Given the description of an element on the screen output the (x, y) to click on. 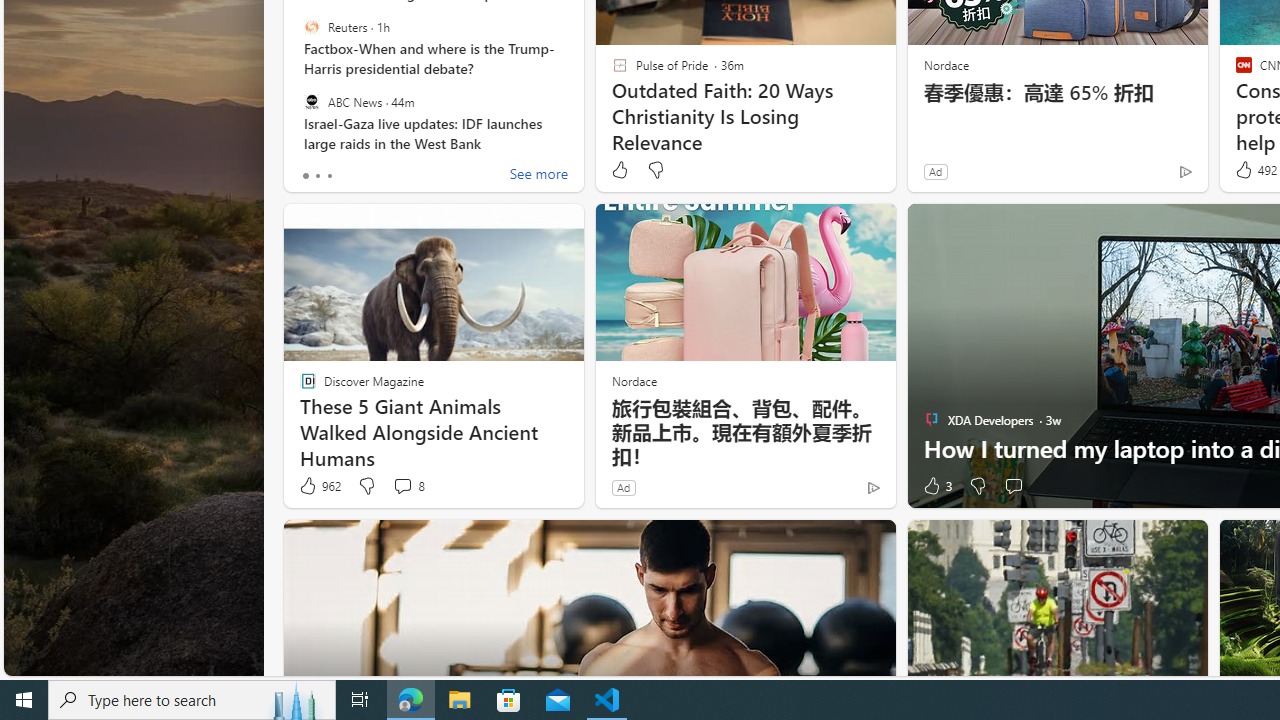
View comments 8 Comment (408, 485)
tab-1 (317, 175)
Like (619, 170)
962 Like (319, 485)
